Given the description of an element on the screen output the (x, y) to click on. 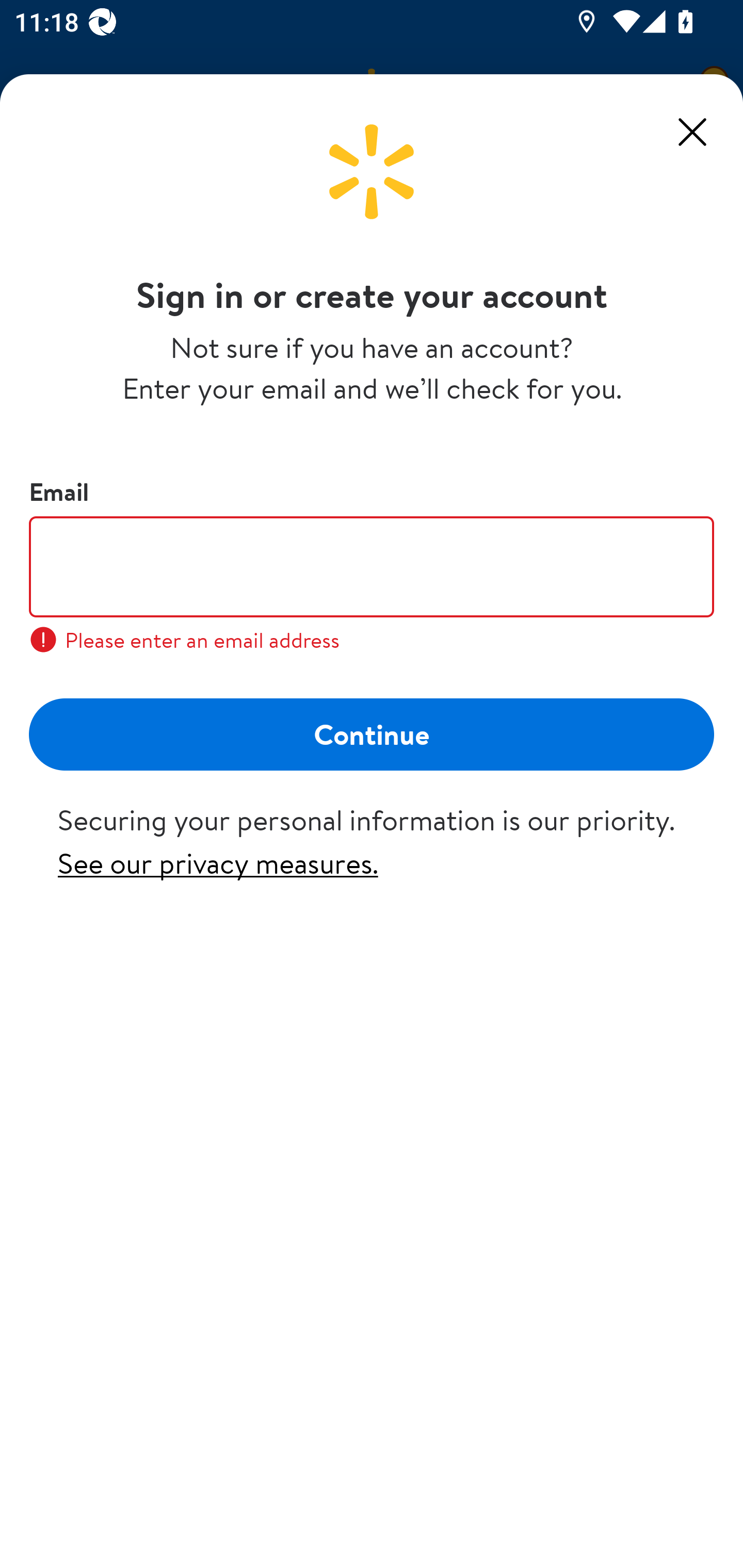
Close (692, 131)
Email (371, 566)
Continue (371, 733)
